Given the description of an element on the screen output the (x, y) to click on. 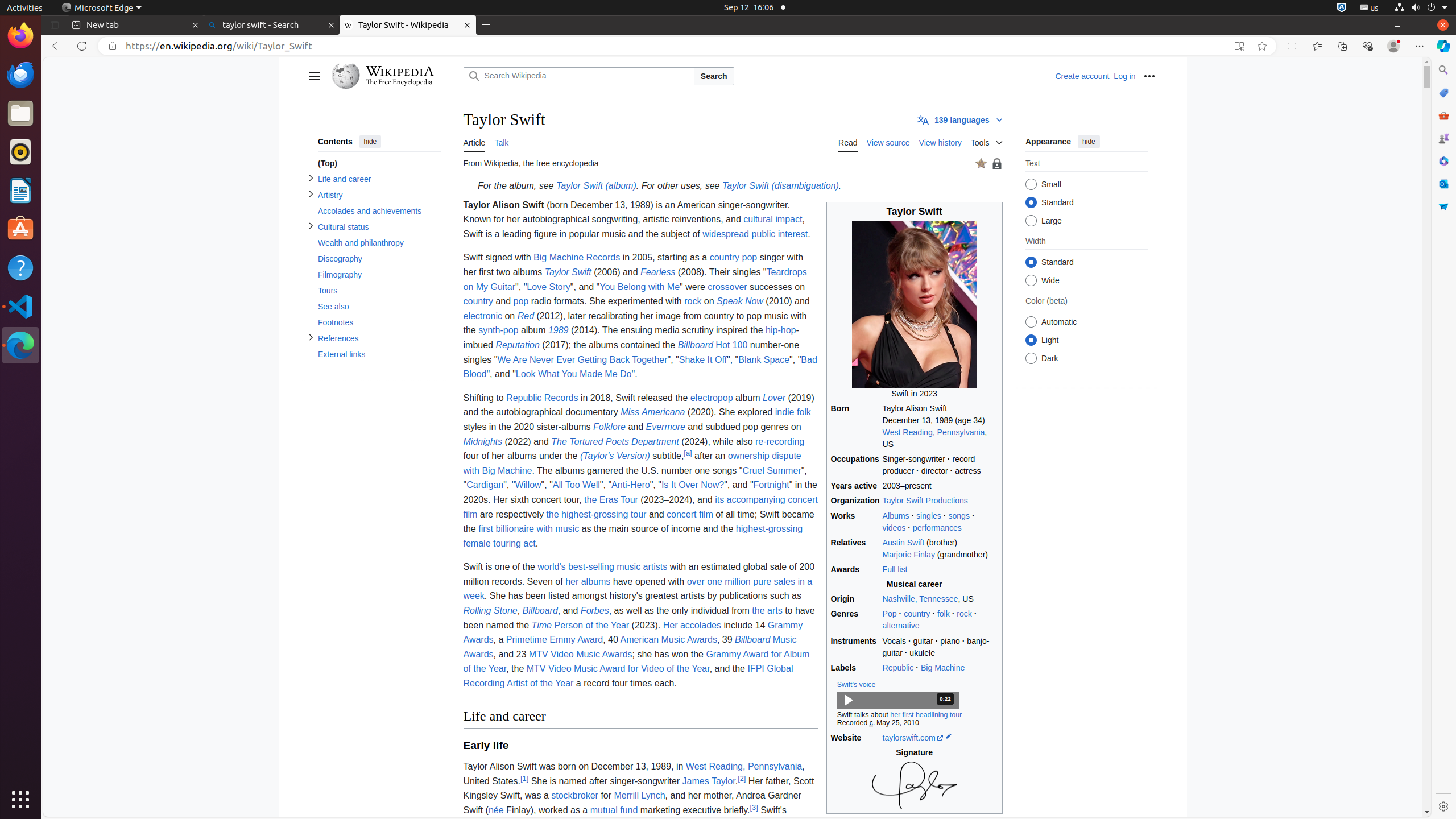
Accolades and achievements Element type: link (378, 211)
American Music Awards Element type: link (668, 639)
Ubuntu Software Element type: push-button (20, 229)
Merrill Lynch Element type: link (639, 795)
Firefox Web Browser Element type: push-button (20, 35)
